Given the description of an element on the screen output the (x, y) to click on. 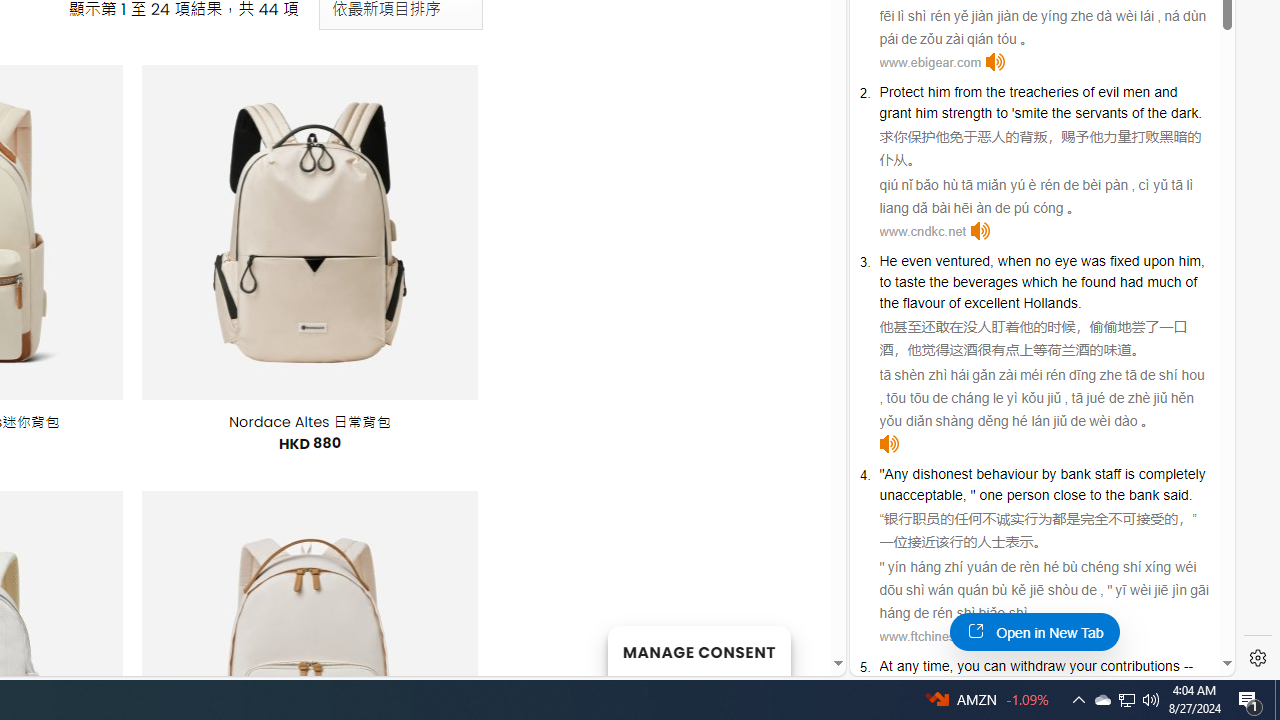
can (995, 665)
evil men (1124, 92)
He (888, 260)
close (1069, 494)
unacceptable (920, 494)
of (1191, 282)
